Given the description of an element on the screen output the (x, y) to click on. 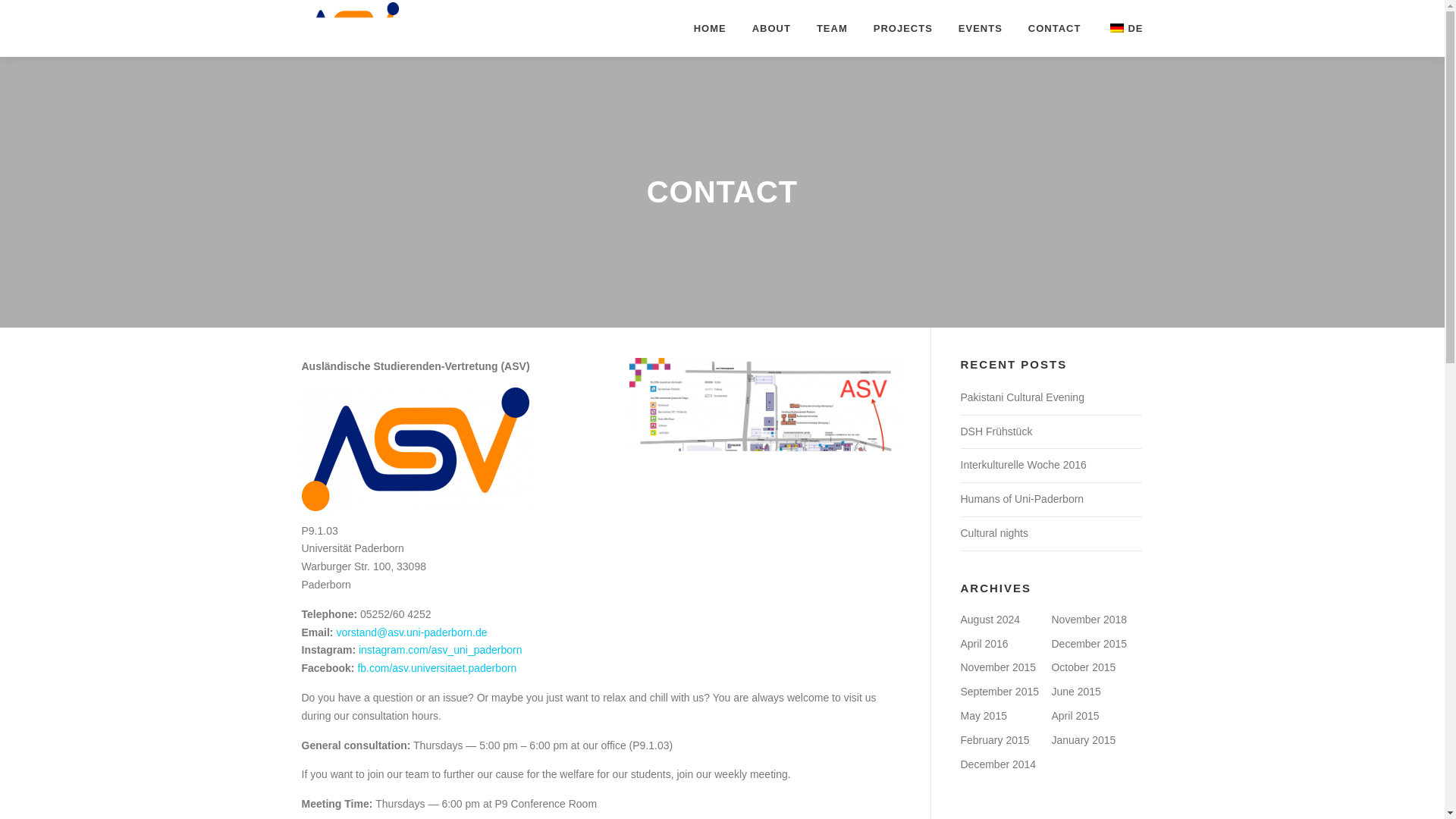
August 2024 (989, 619)
PROJECTS (902, 28)
June 2015 (1075, 691)
November 2018 (1088, 619)
December 2015 (1088, 644)
Pakistani Cultural Evening (1021, 397)
ABOUT (771, 28)
HOME (710, 28)
Skip to content (34, 9)
April 2016 (983, 644)
